Given the description of an element on the screen output the (x, y) to click on. 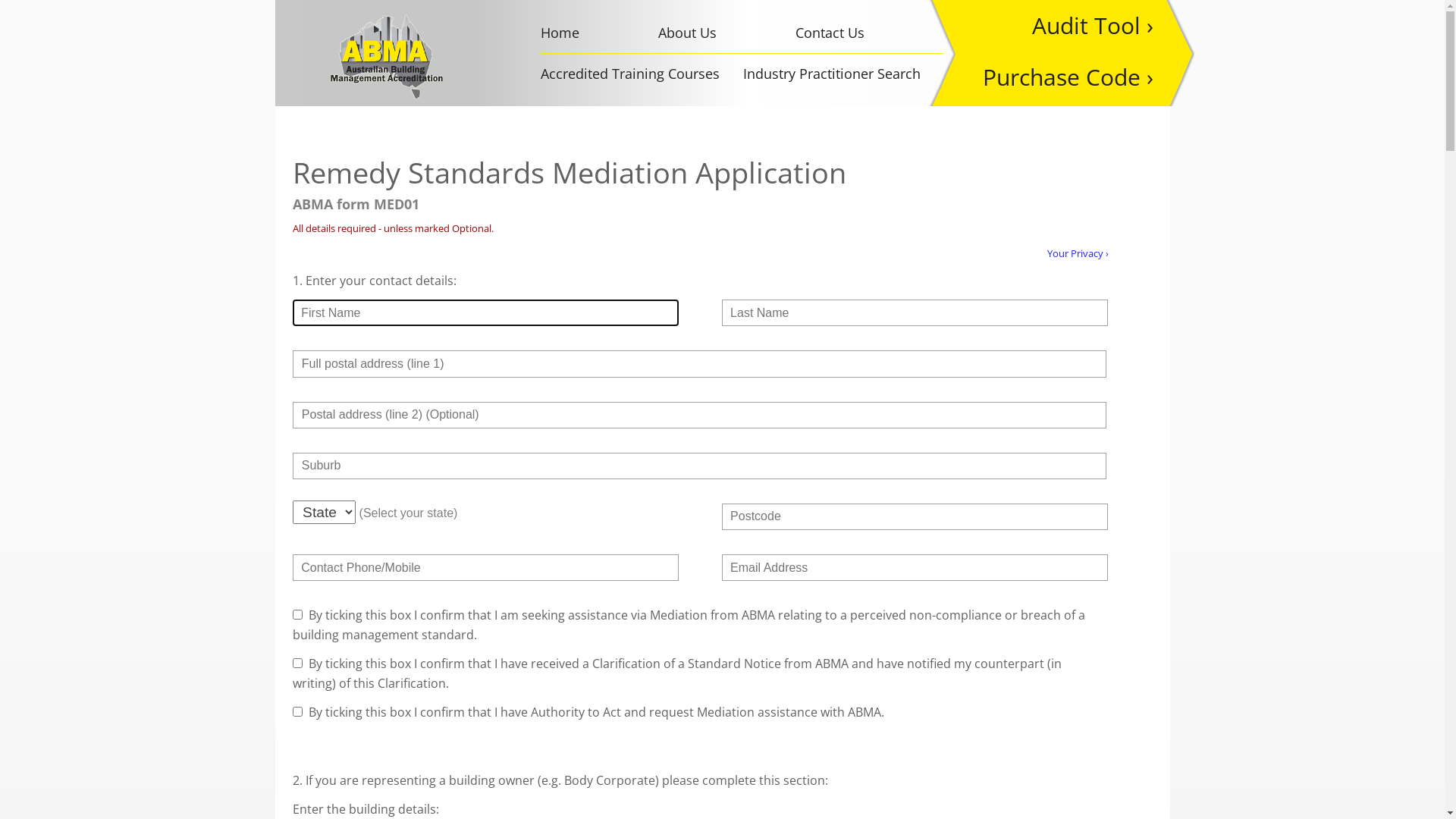
About Us Element type: text (687, 32)
Contact Us Element type: text (829, 32)
Accredited Training Courses Element type: text (629, 73)
Return to ABMA Entry (Home) page Element type: hover (386, 56)
Enter your phone/mobile Element type: hover (485, 567)
Enter your postcode Element type: hover (914, 516)
Enter your email address Element type: hover (914, 567)
Additional postal address (as required) Element type: hover (699, 414)
Enter your suburb Element type: hover (699, 465)
Industry Practitioner Search Element type: text (831, 73)
Full postal address (line 1) Element type: hover (699, 363)
Home Element type: text (559, 32)
